Given the description of an element on the screen output the (x, y) to click on. 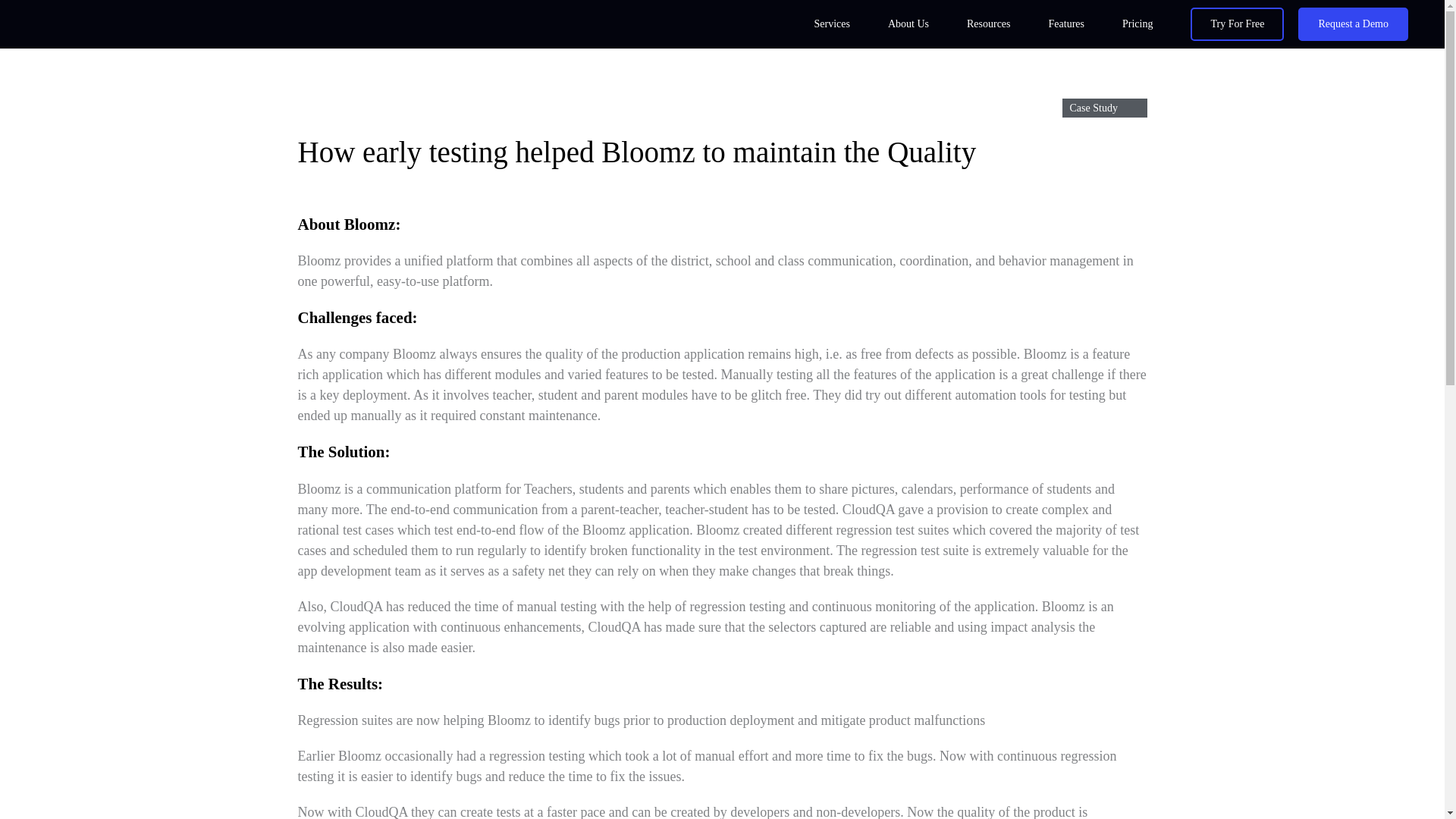
Features (1066, 24)
About Us (907, 24)
Request a Demo (1352, 23)
Pricing (1136, 24)
Try For Free (1237, 23)
Services (830, 24)
Resources (989, 24)
